Given the description of an element on the screen output the (x, y) to click on. 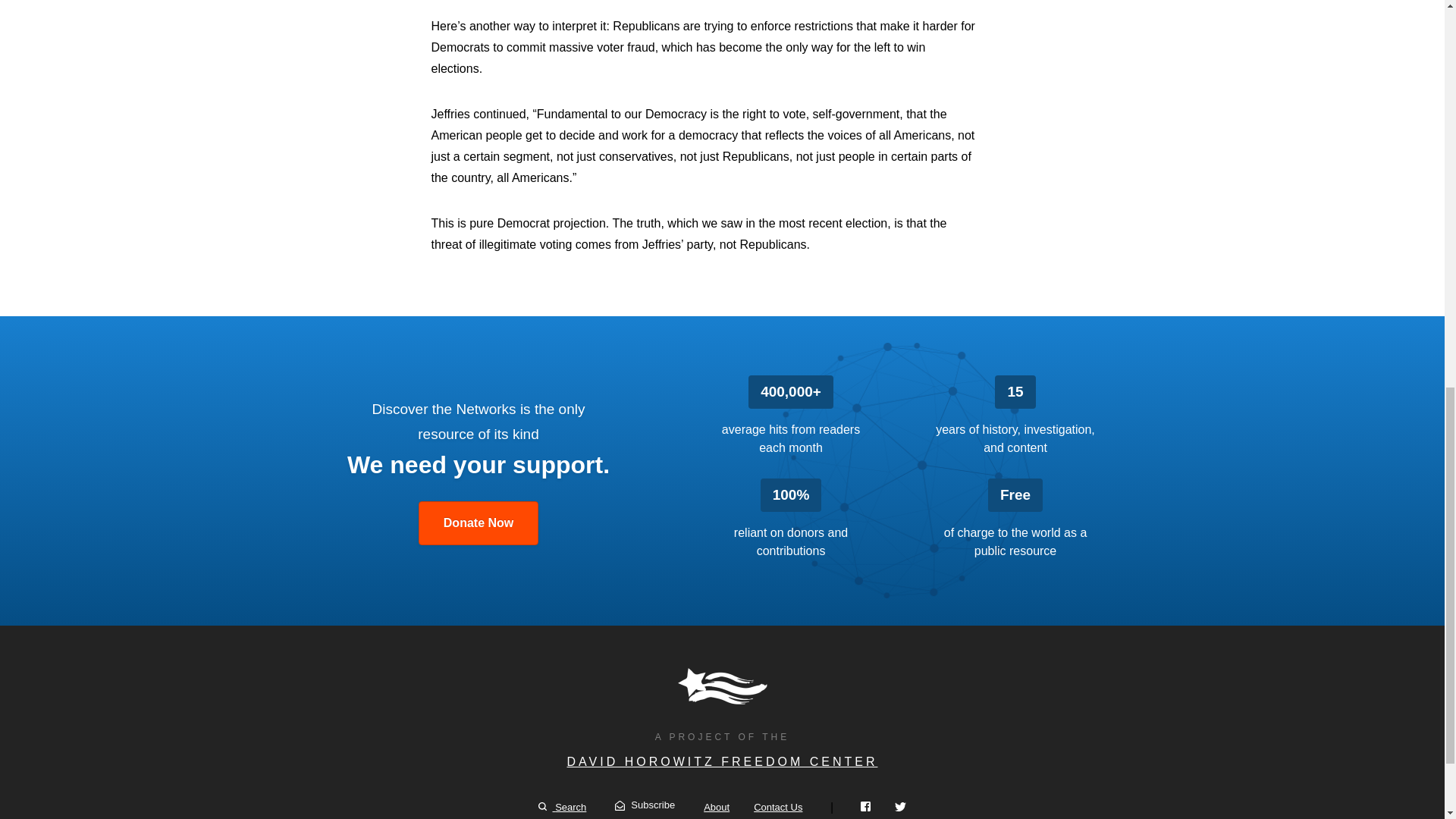
Contact Us (778, 807)
About (716, 807)
DAVID HOROWITZ FREEDOM CENTER (722, 761)
Search (562, 807)
Subscribe (644, 805)
Donate Now (478, 523)
